Given the description of an element on the screen output the (x, y) to click on. 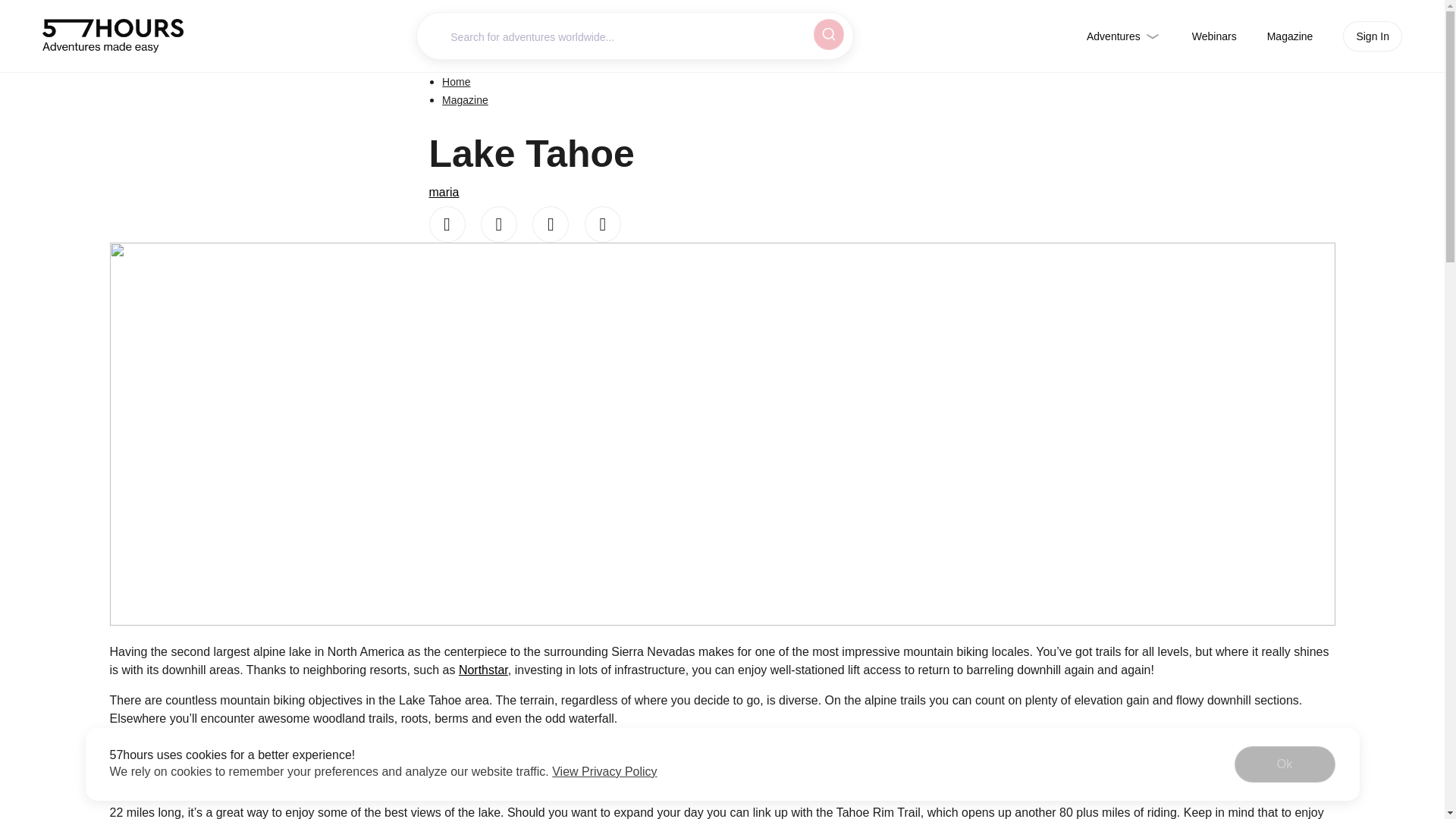
Adventures (1123, 36)
Submit (825, 33)
